Given the description of an element on the screen output the (x, y) to click on. 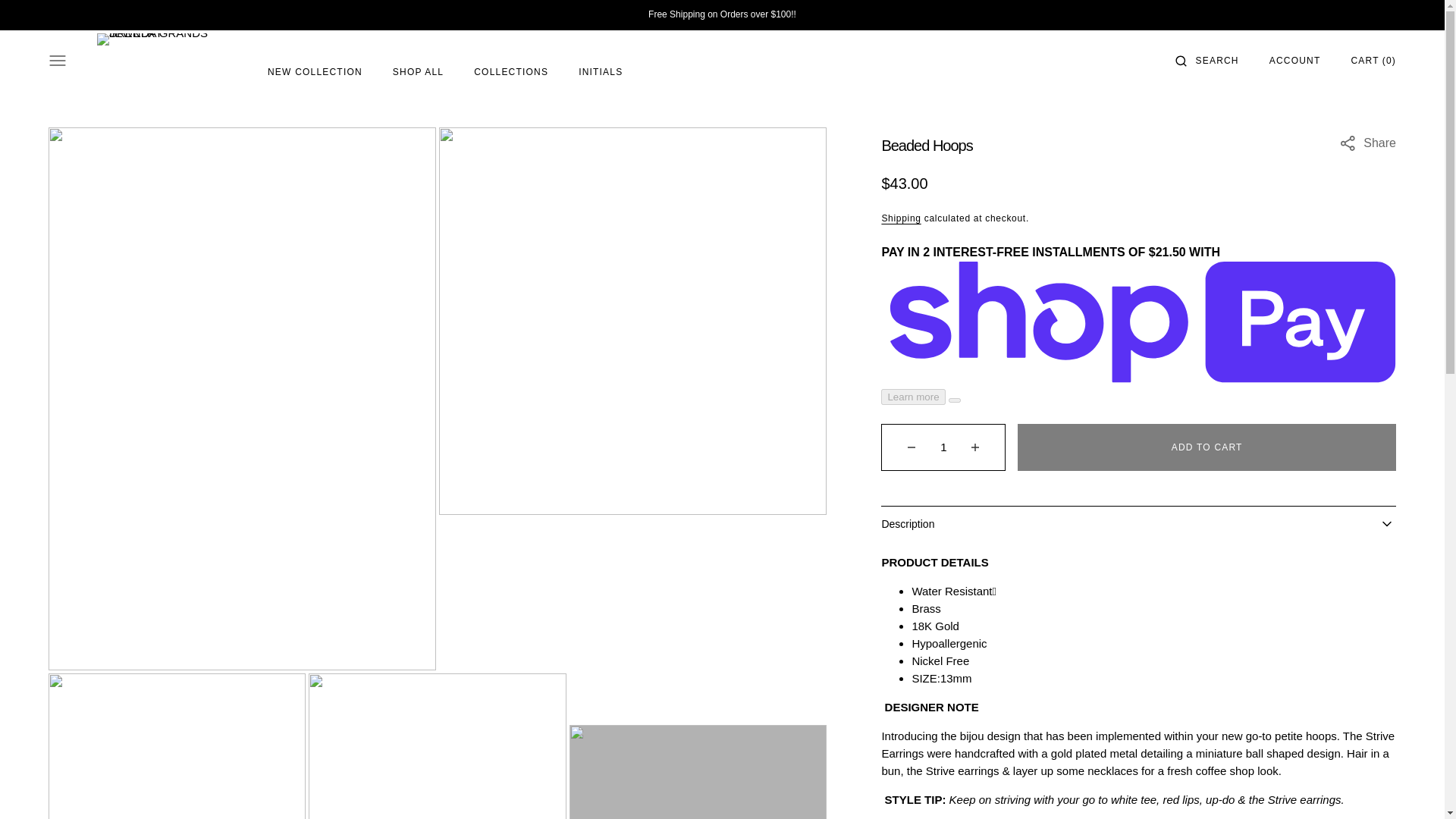
Search (1217, 60)
New Collection  (314, 71)
1 (943, 447)
Collections (511, 71)
Account (1294, 60)
